Given the description of an element on the screen output the (x, y) to click on. 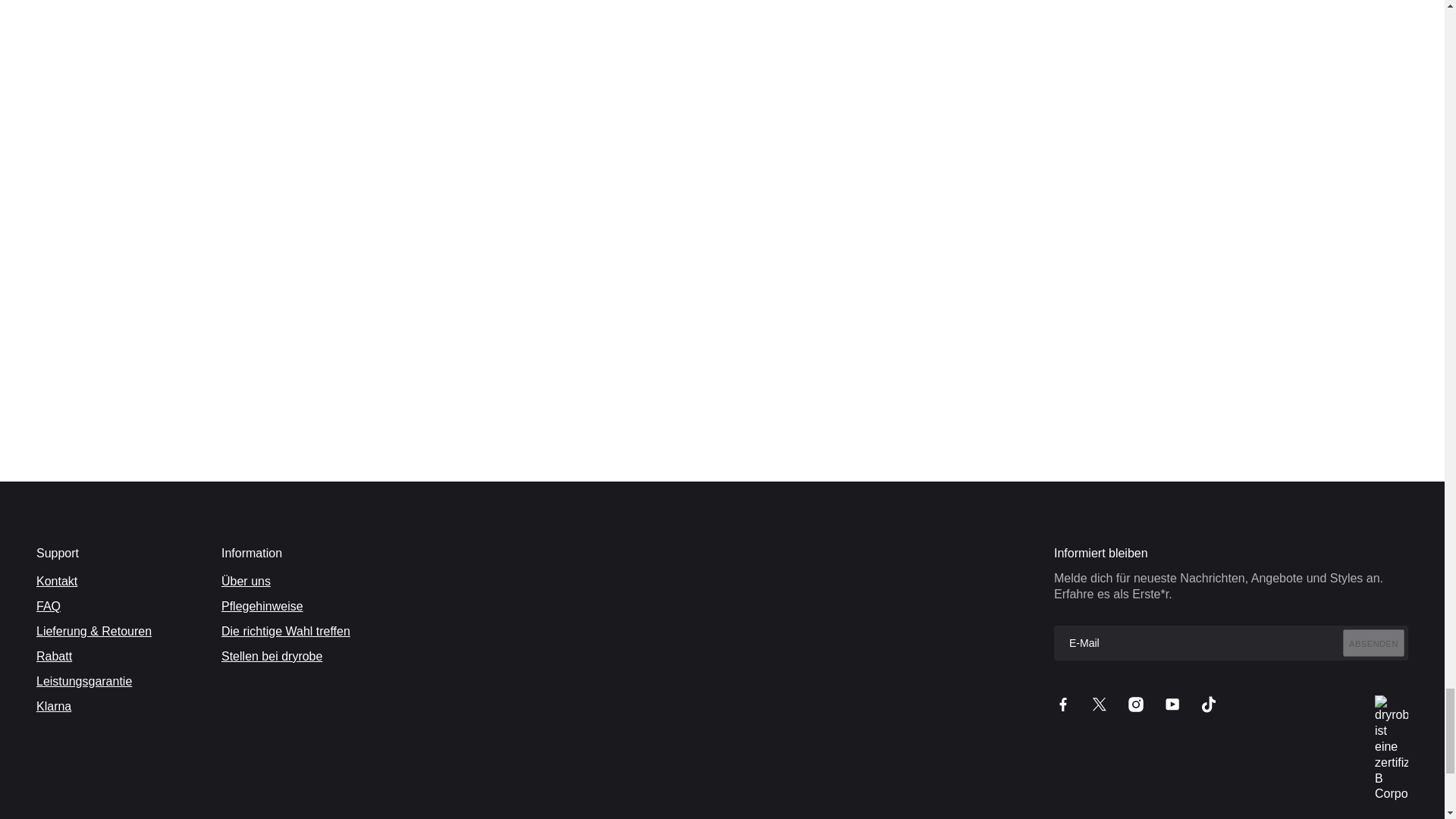
dryrobe on twitter (1099, 704)
dryrobe on tiktok (1208, 704)
dryrobe on facebook (1062, 704)
dryrobe on instagram (1135, 704)
dryrobe on youtube (1171, 704)
